Given the description of an element on the screen output the (x, y) to click on. 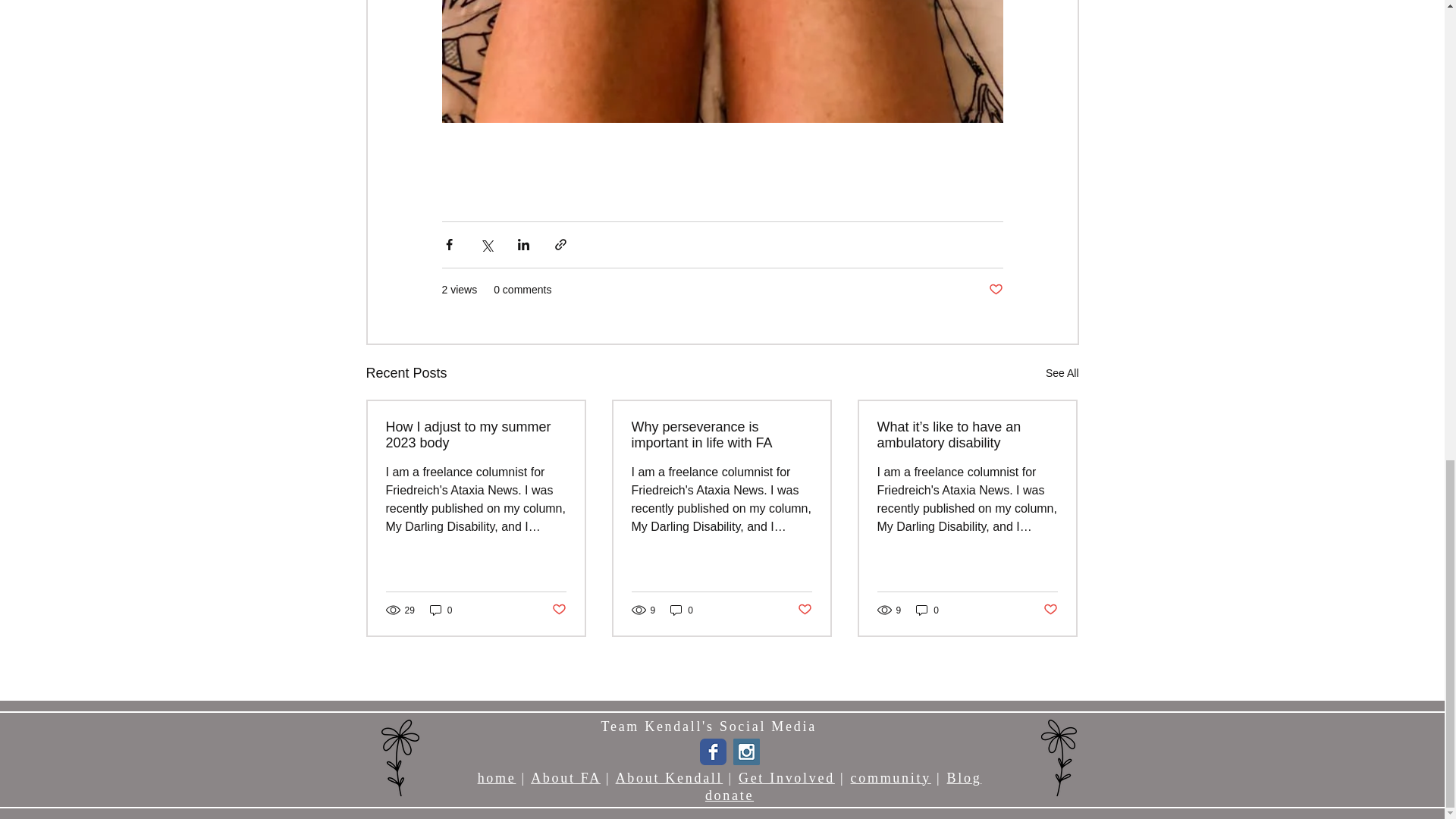
Post not marked as liked (558, 609)
community (890, 777)
Post not marked as liked (995, 289)
0 (681, 609)
How I adjust to my summer 2023 body (475, 435)
Post not marked as liked (804, 609)
Post not marked as liked (1050, 609)
About Kendall (669, 777)
See All (1061, 373)
0 (927, 609)
